Given the description of an element on the screen output the (x, y) to click on. 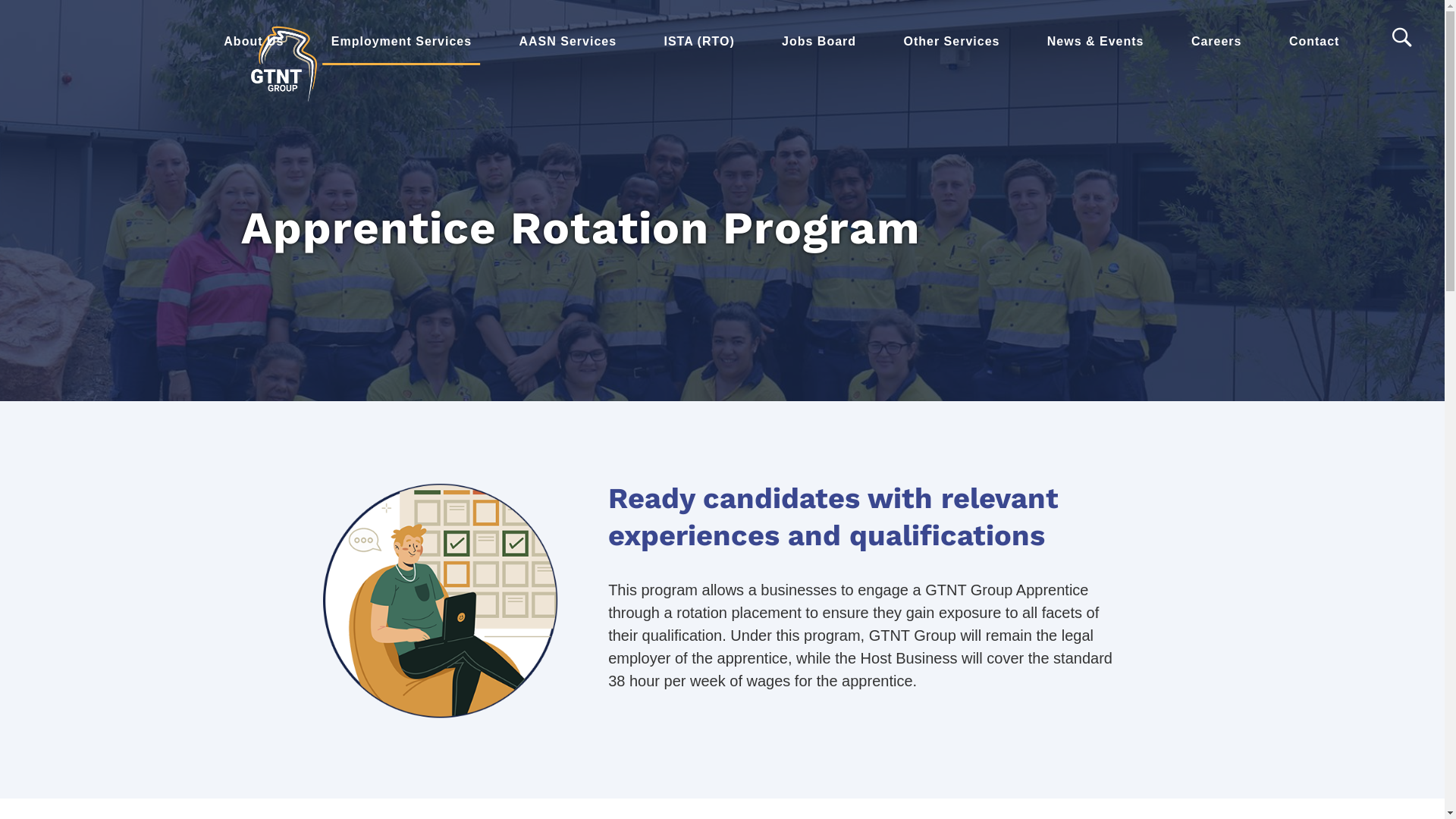
About Us Element type: text (253, 41)
Jobs Board Element type: text (818, 41)
News & Events Element type: text (1095, 41)
Other Services Element type: text (950, 41)
Search Element type: text (1403, 38)
Search Element type: text (62, 24)
Contact Element type: text (1314, 41)
AASN Services Element type: text (567, 41)
Careers Element type: text (1216, 41)
Employment Services Element type: text (401, 41)
ISTA (RTO) Element type: text (699, 41)
